Given the description of an element on the screen output the (x, y) to click on. 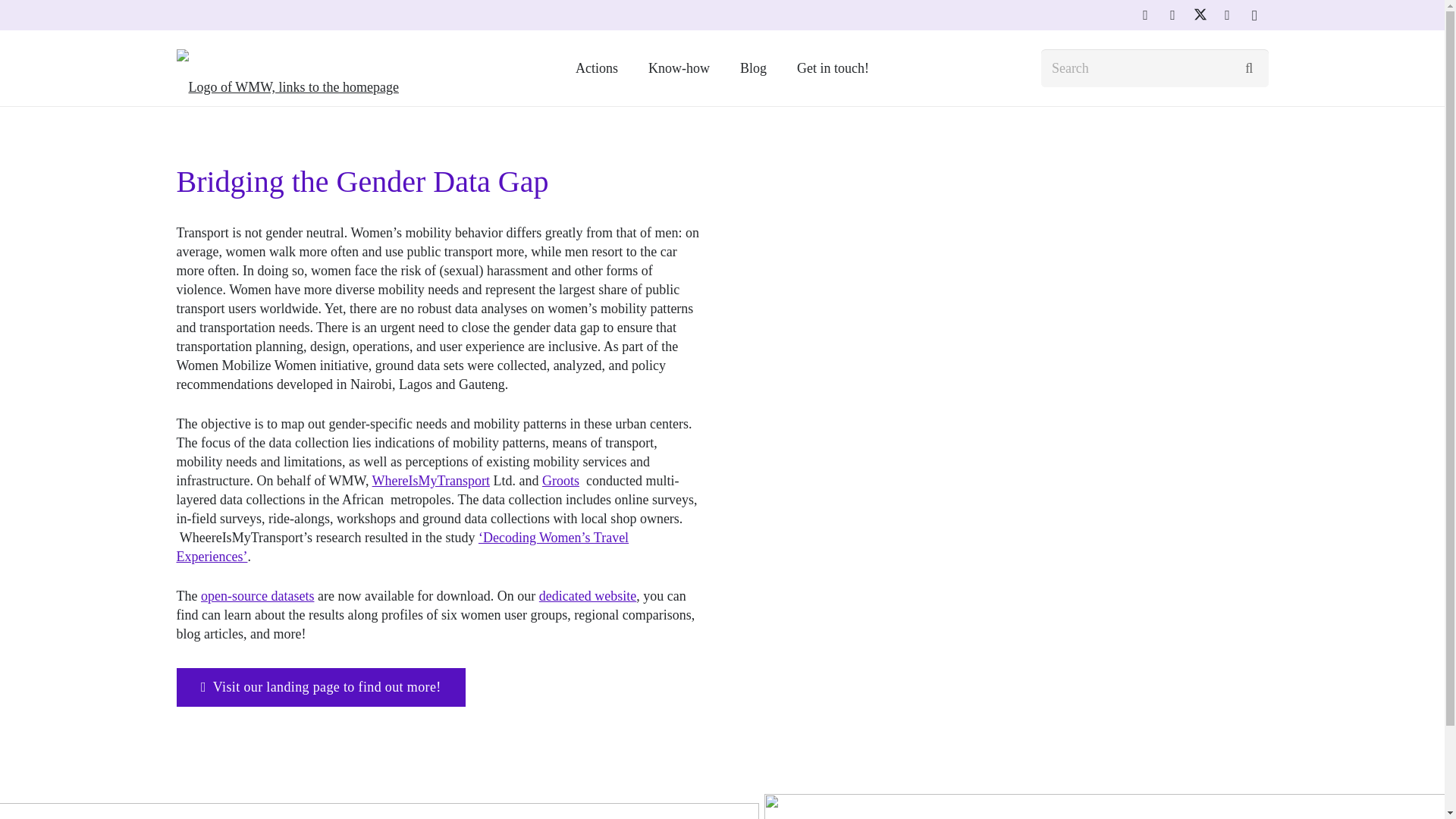
Groots (560, 480)
dedicated website (587, 595)
Visit our landing page to find out more! (320, 686)
Facebook (1226, 14)
Actions (596, 68)
Know-how (679, 68)
Get in touch! (832, 68)
WhereIsMyTransport (430, 480)
YouTube (1144, 14)
Twitter (1199, 14)
